Given the description of an element on the screen output the (x, y) to click on. 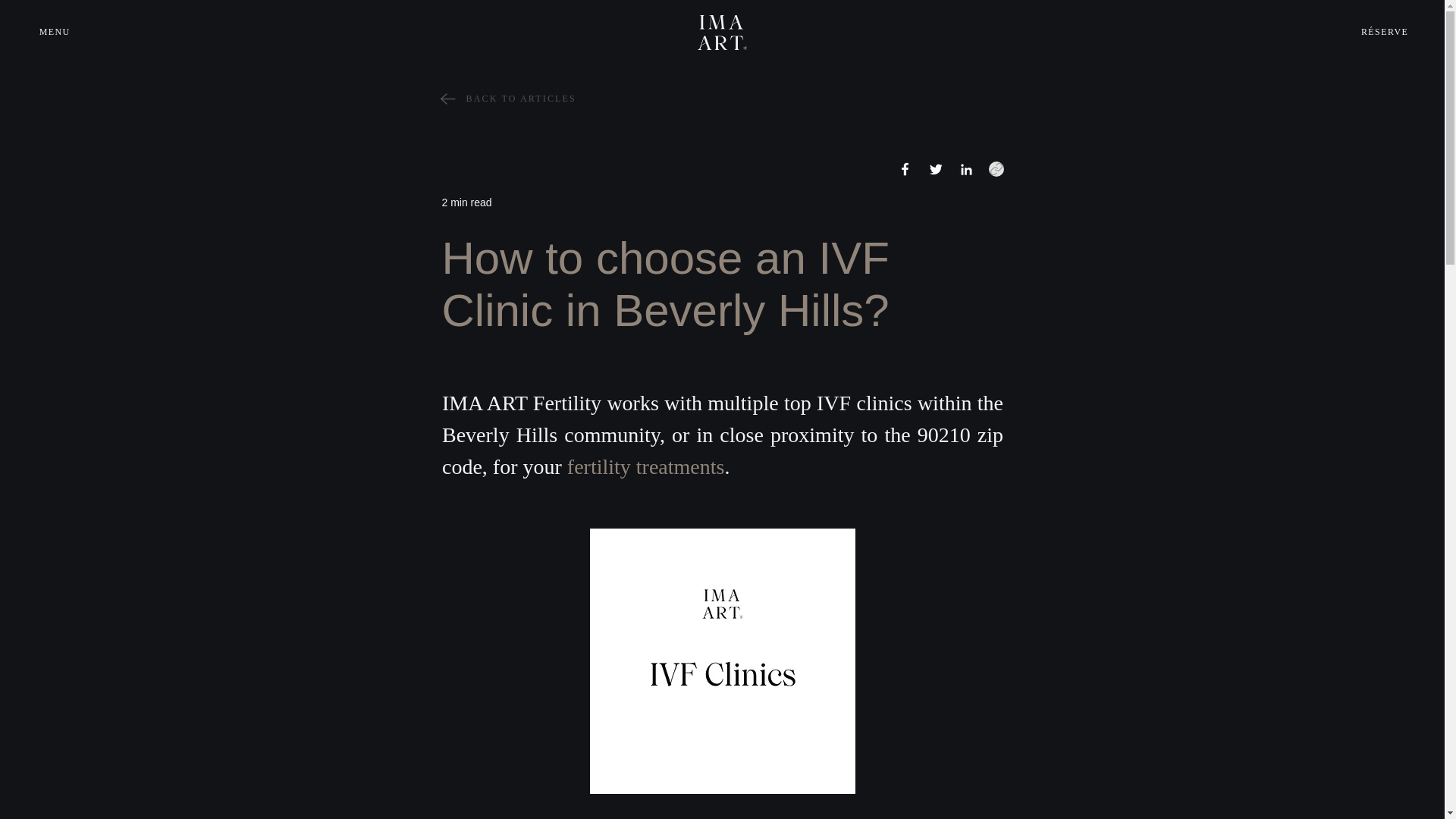
fertility treatments (644, 466)
2 min read (466, 201)
MENU (66, 31)
BACK TO ARTICLES (722, 97)
